Given the description of an element on the screen output the (x, y) to click on. 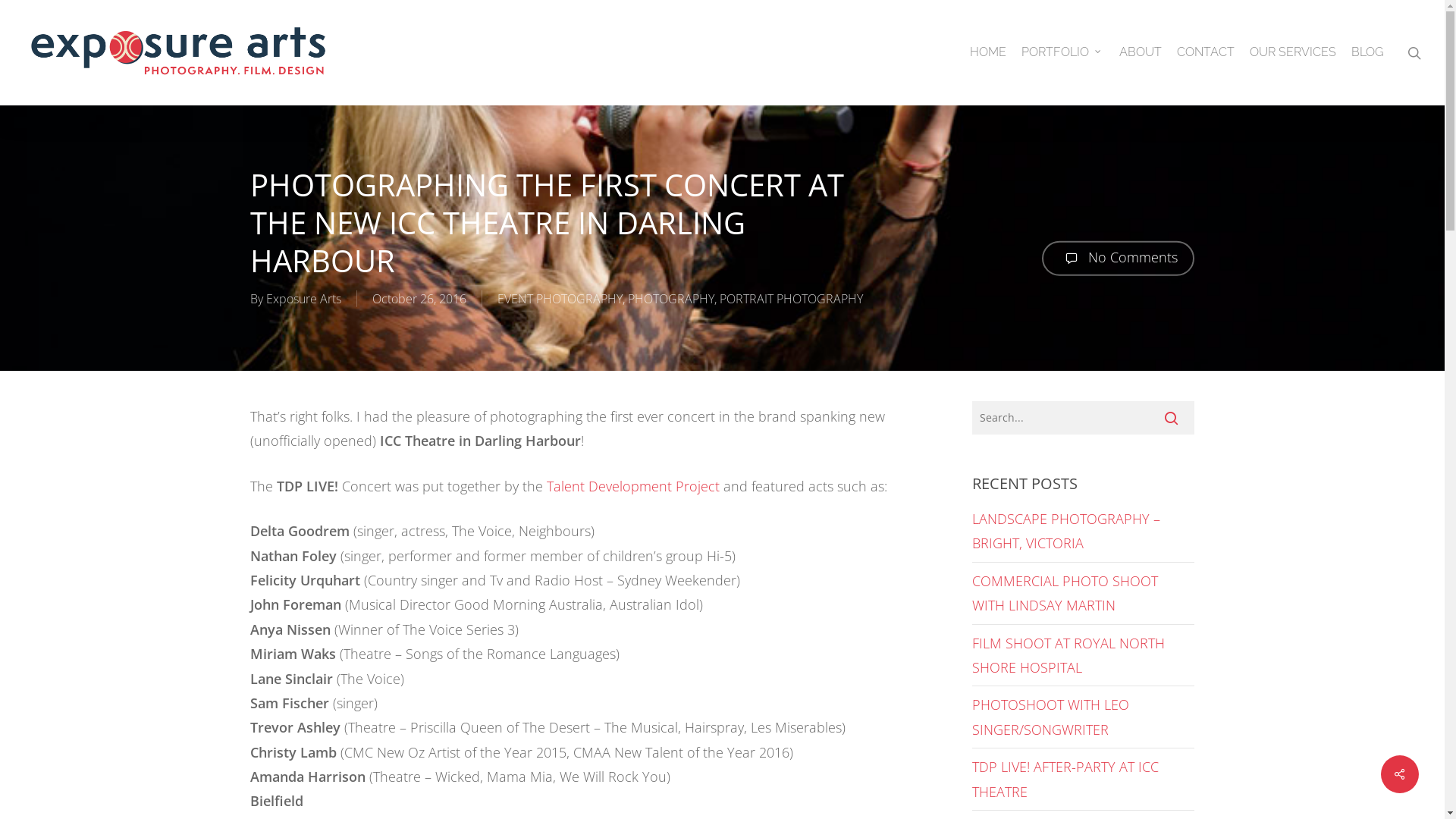
Search for: Element type: hover (1083, 417)
COMMERCIAL PHOTO SHOOT WITH LINDSAY MARTIN Element type: text (1064, 592)
search Element type: text (1414, 52)
CONTACT Element type: text (1205, 51)
FILM SHOOT AT ROYAL NORTH SHORE HOSPITAL Element type: text (1068, 654)
PHOTOSHOOT WITH LEO SINGER/SONGWRITER Element type: text (1050, 716)
Exposure Arts Element type: text (303, 298)
ABOUT Element type: text (1140, 51)
PORTFOLIO Element type: text (1062, 51)
PORTRAIT PHOTOGRAPHY Element type: text (790, 298)
Talent Development Project Element type: text (632, 485)
PHOTOGRAPHY Element type: text (670, 298)
No Comments Element type: text (1117, 258)
EVENT PHOTOGRAPHY Element type: text (559, 298)
BLOG Element type: text (1367, 51)
TDP LIVE! AFTER-PARTY AT ICC THEATRE Element type: text (1065, 778)
HOME Element type: text (987, 51)
OUR SERVICES Element type: text (1292, 51)
